Given the description of an element on the screen output the (x, y) to click on. 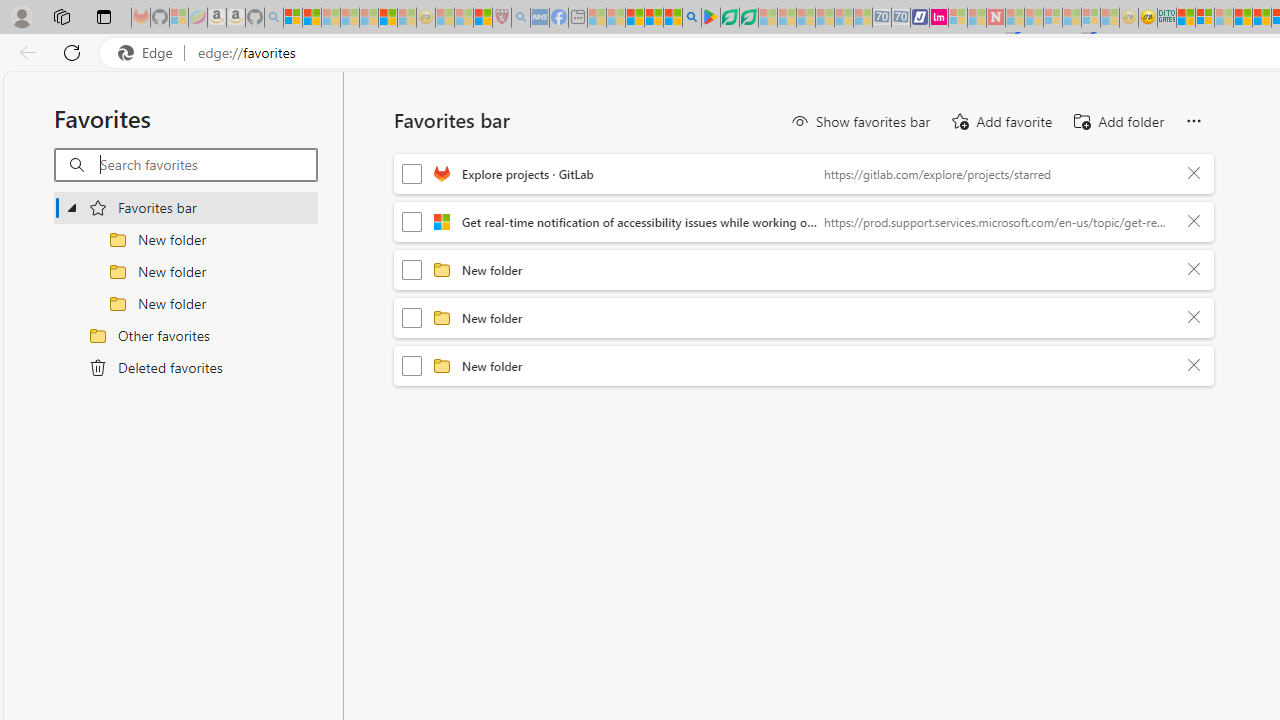
DITOGAMES AG Imprint (1167, 17)
Recipes - MSN - Sleeping (445, 17)
Personal Profile (21, 16)
Microsoft Word - consumer-privacy address update 2.2021 (748, 17)
Local - MSN (482, 17)
Microsoft Start - Sleeping (976, 17)
Terms of Use Agreement (729, 17)
google - Search (692, 17)
Microsoft-Report a Concern to Bing - Sleeping (179, 17)
More options (1193, 121)
